Given the description of an element on the screen output the (x, y) to click on. 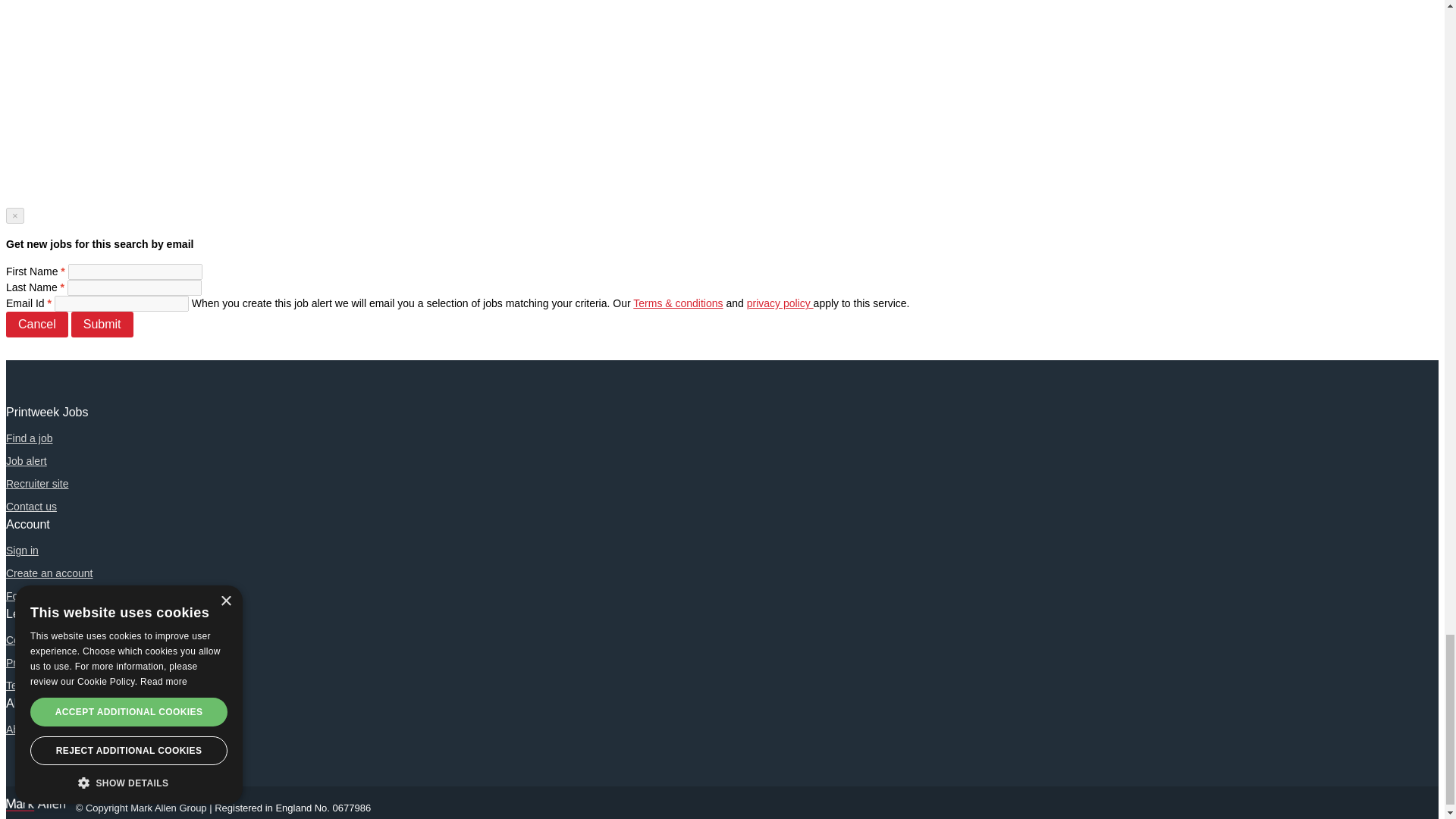
3rd party ad content (62, 74)
3rd party ad content (62, 12)
3rd party ad content (62, 158)
